Given the description of an element on the screen output the (x, y) to click on. 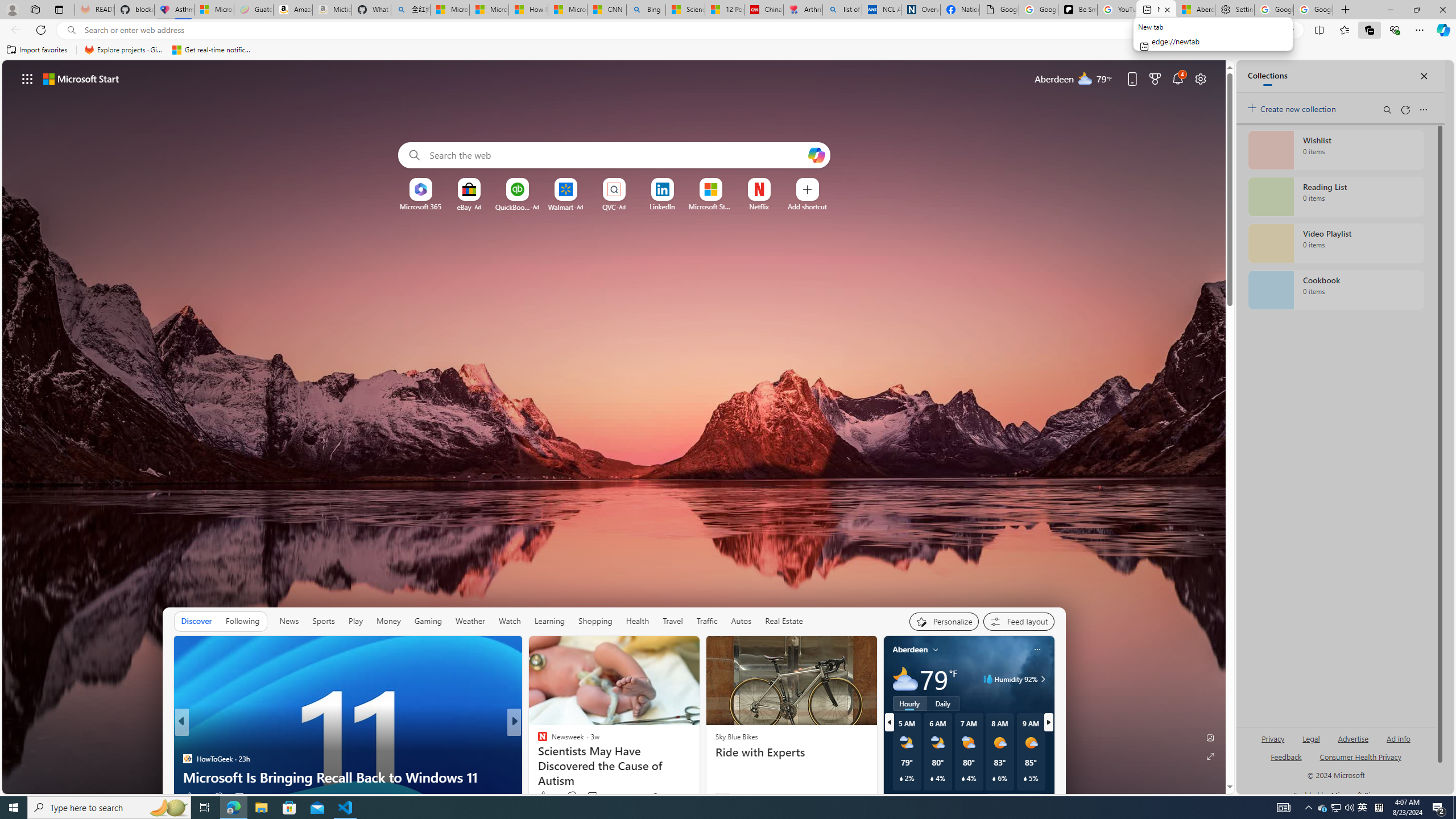
View comments 3 Comment (589, 797)
Class: icon-img (1037, 649)
Morning Carpool (537, 740)
307 Like (545, 796)
View comments 1k Comment (592, 797)
